Given the description of an element on the screen output the (x, y) to click on. 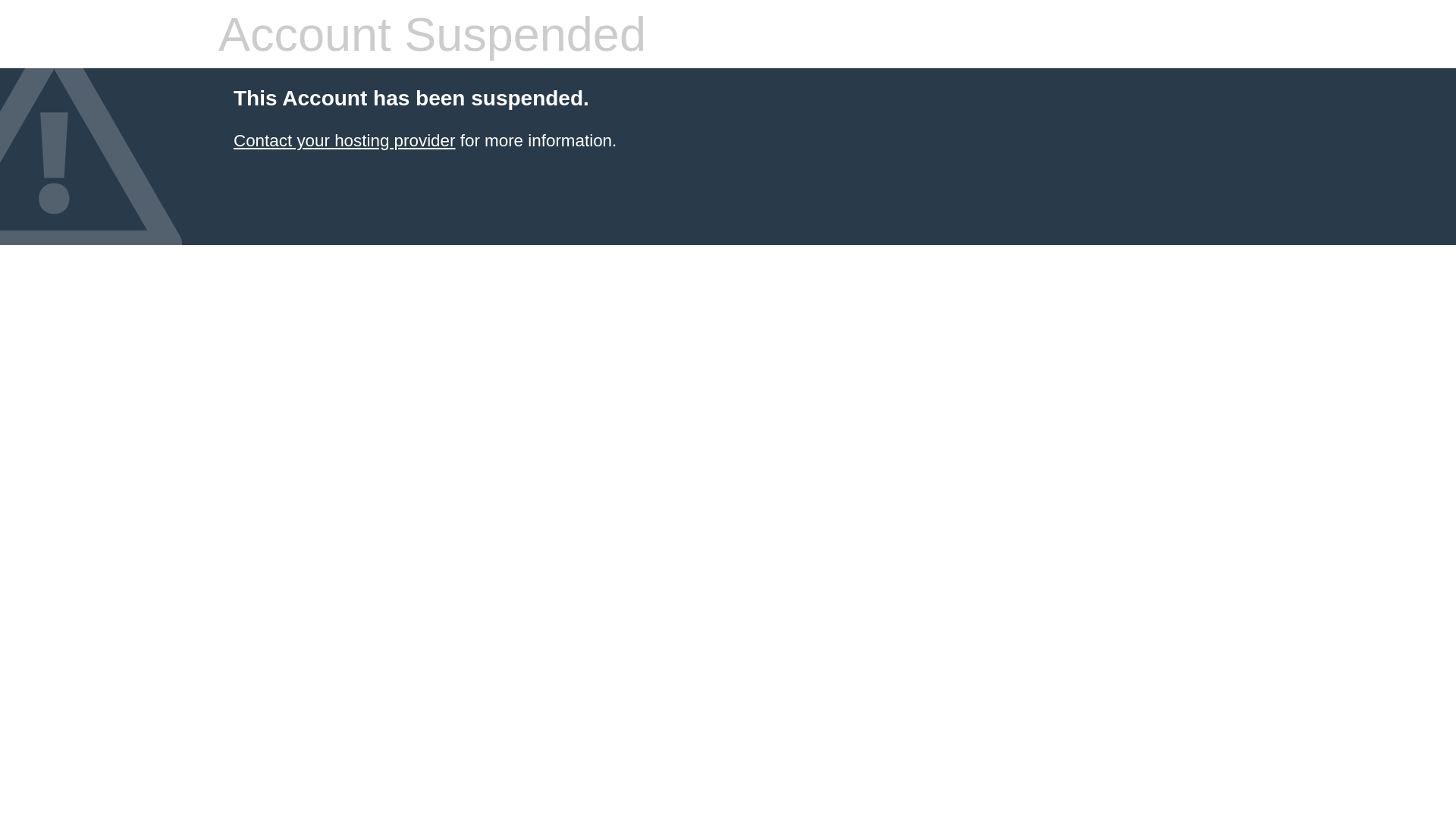
Contact your hosting provider Element type: text (344, 140)
